Given the description of an element on the screen output the (x, y) to click on. 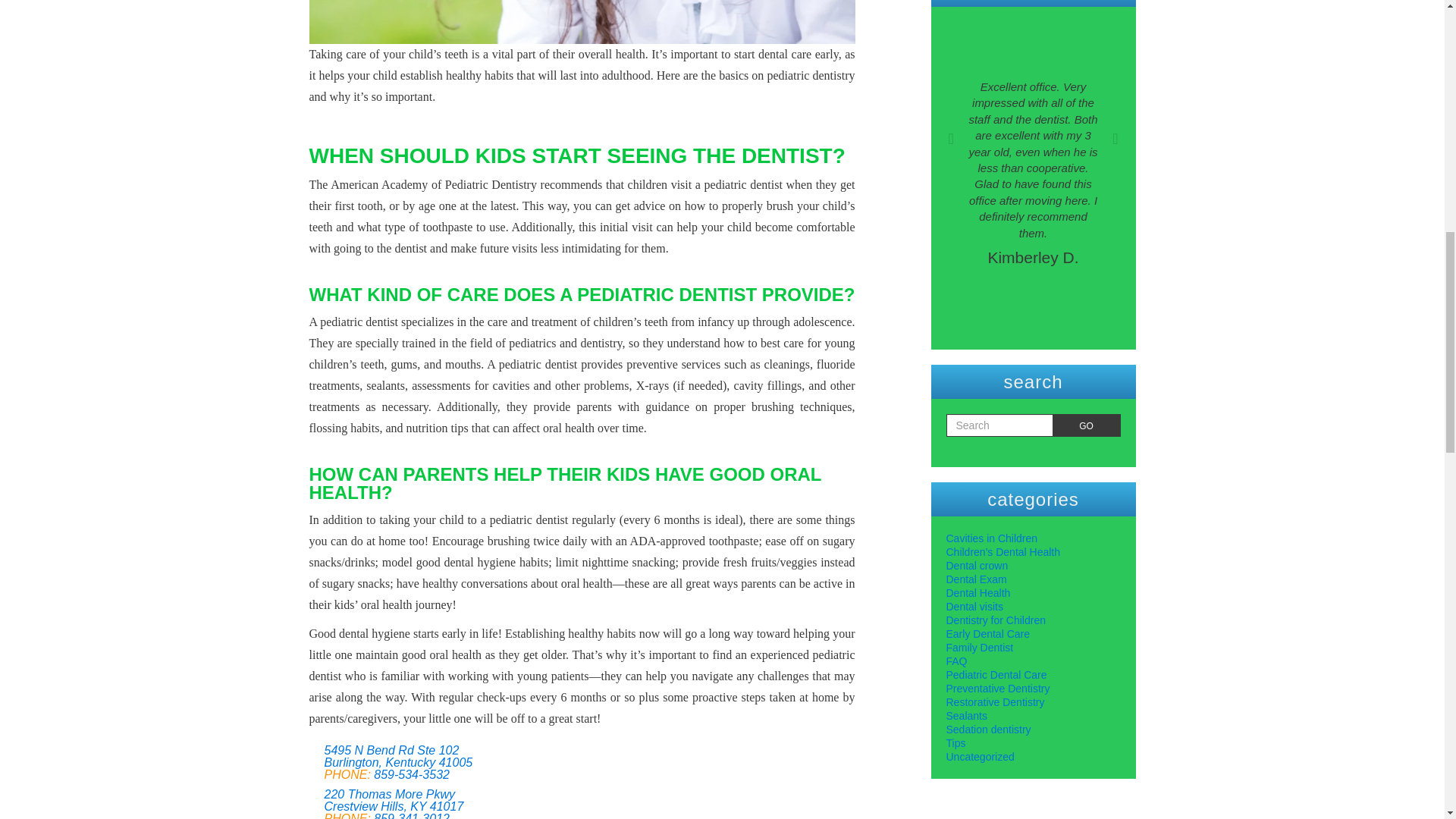
Search for: (999, 425)
